Given the description of an element on the screen output the (x, y) to click on. 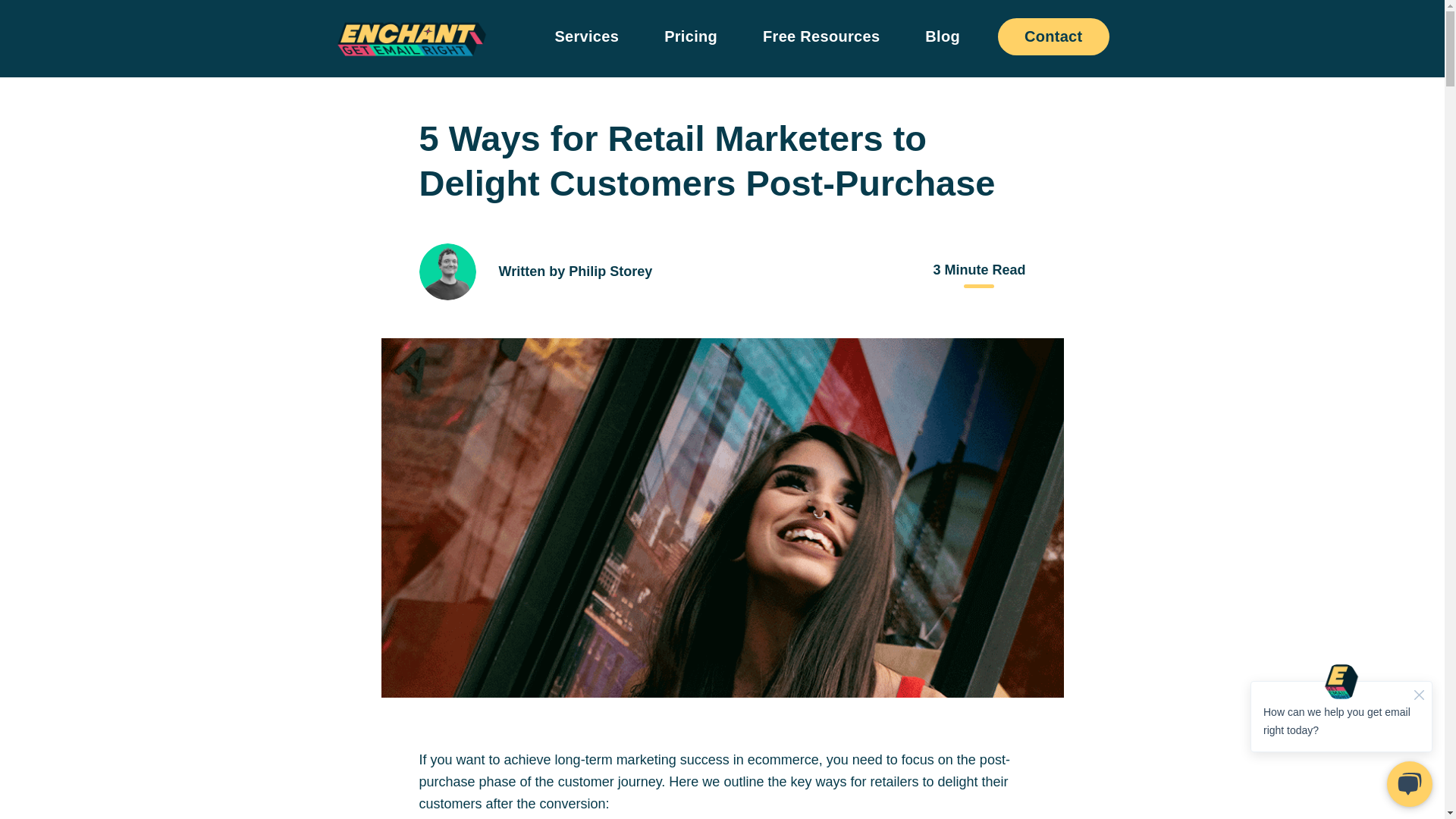
Services (586, 38)
Blog (942, 38)
Contact (1053, 36)
Pricing (690, 38)
Free Resources (820, 38)
